Given the description of an element on the screen output the (x, y) to click on. 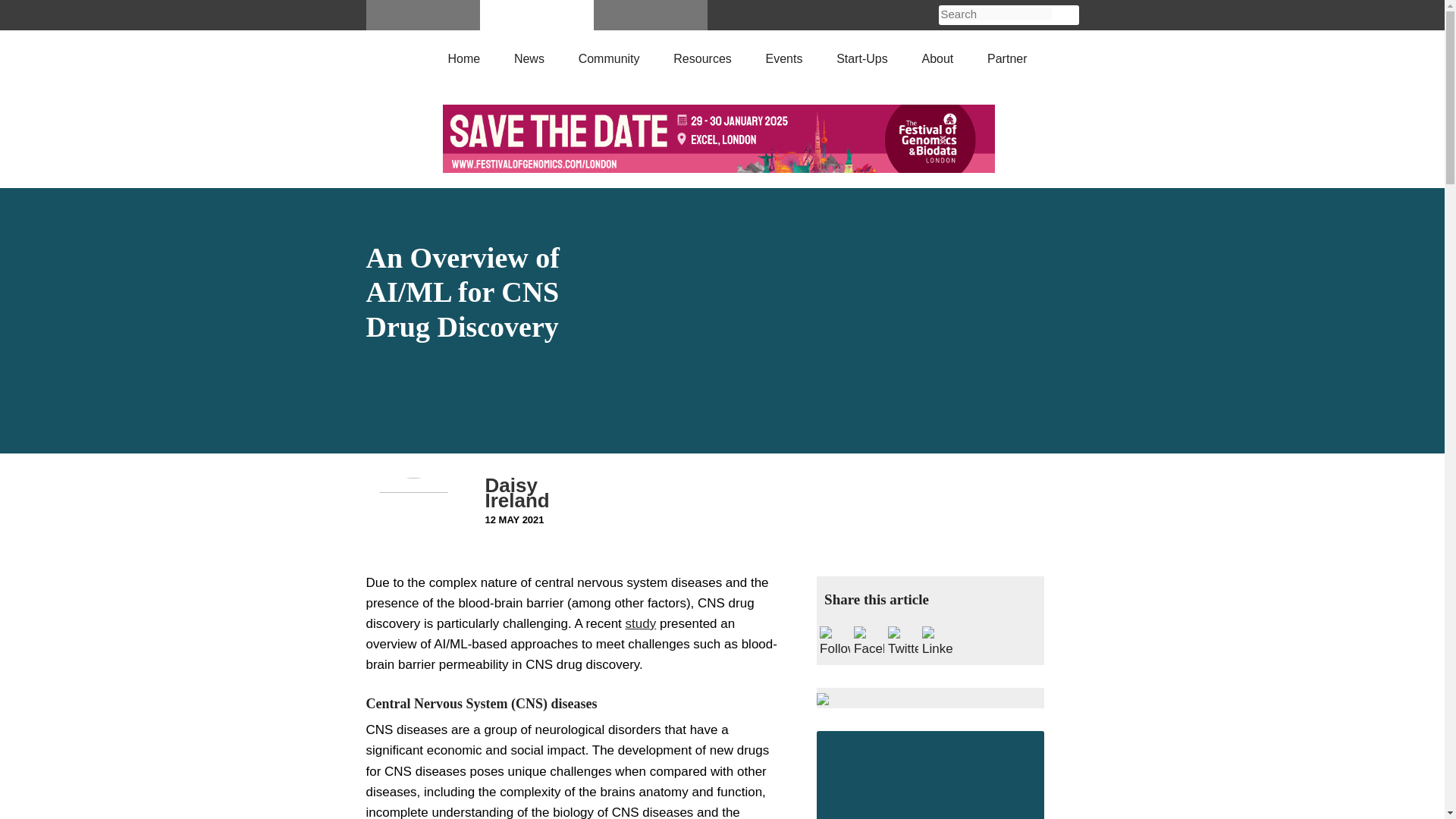
Community (609, 55)
Resources (701, 55)
Follow by Email (834, 641)
LinkedIn (936, 641)
Twitter (903, 641)
study (641, 623)
Start-Ups (861, 55)
Facebook (868, 641)
